Given the description of an element on the screen output the (x, y) to click on. 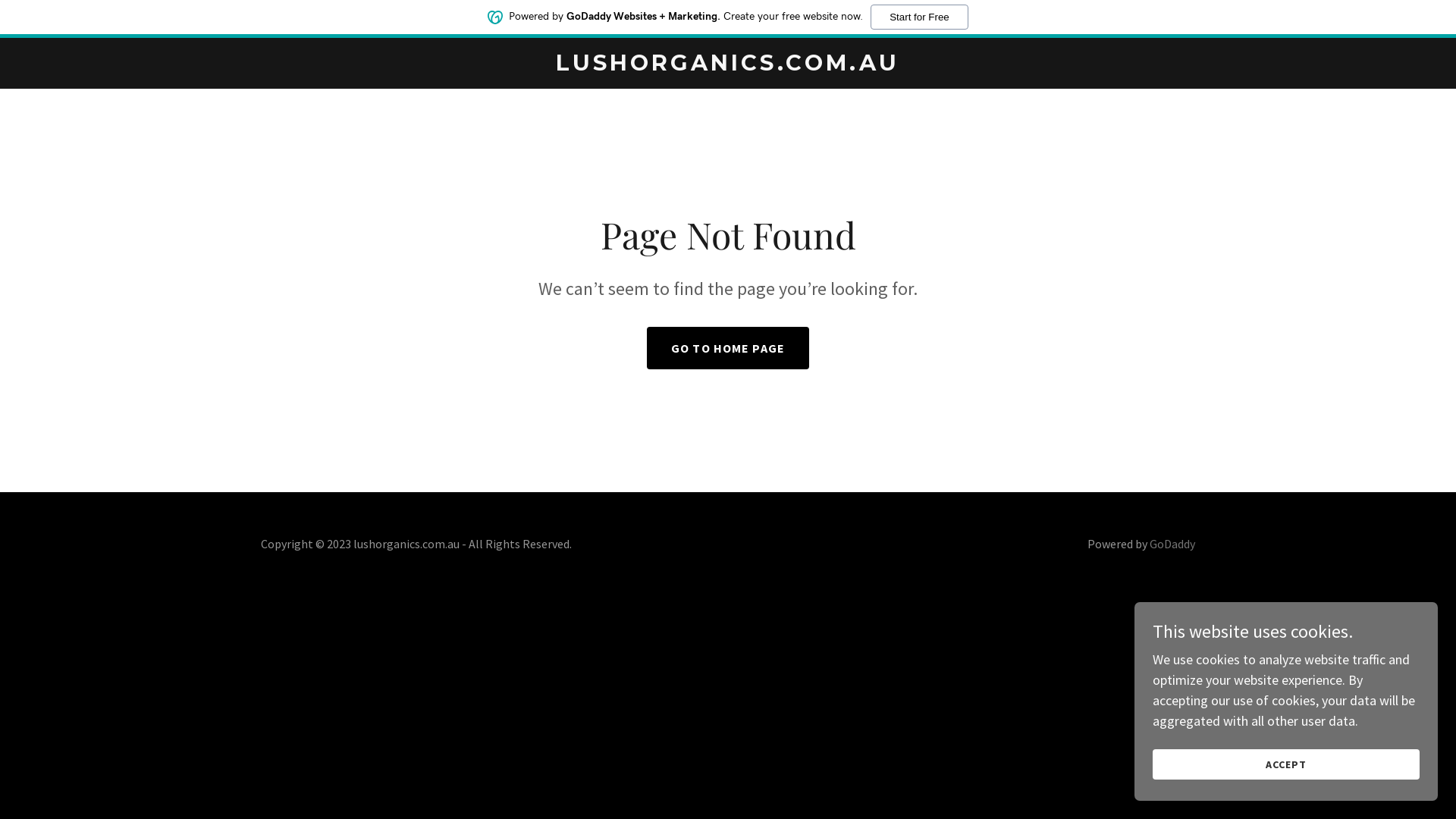
Start for Free Element type: text (919, 16)
LUSHORGANICS.COM.AU Element type: text (727, 65)
ACCEPT Element type: text (1285, 764)
GoDaddy Element type: text (1172, 543)
GO TO HOME PAGE Element type: text (727, 347)
